Given the description of an element on the screen output the (x, y) to click on. 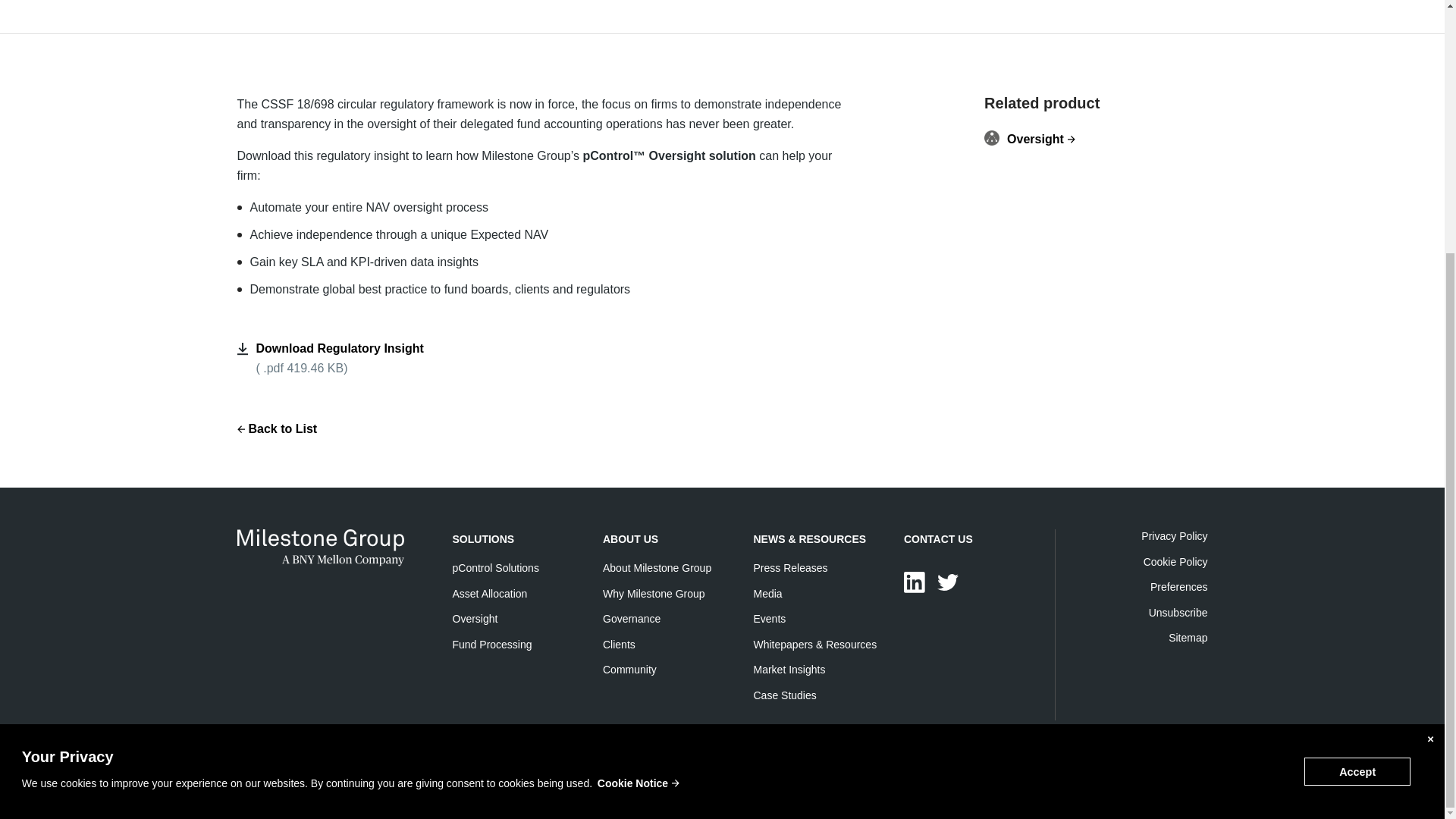
Unsubscribe from regular communications (1178, 612)
pControl Asset Allocation (489, 593)
Oversight (474, 618)
Asset Allocation (489, 593)
Press Releases (791, 567)
Market Insights (789, 669)
Why Milestone Group (653, 593)
Find out about our Privacy Policy (1174, 535)
Cookie Notice (638, 425)
Download Regulatory Insight (339, 348)
Media (768, 593)
Find out about our Cookie Policy (1175, 562)
LinkedIn Company page (914, 581)
Update your communications preferences (1178, 586)
ABOUT US (630, 539)
